Given the description of an element on the screen output the (x, y) to click on. 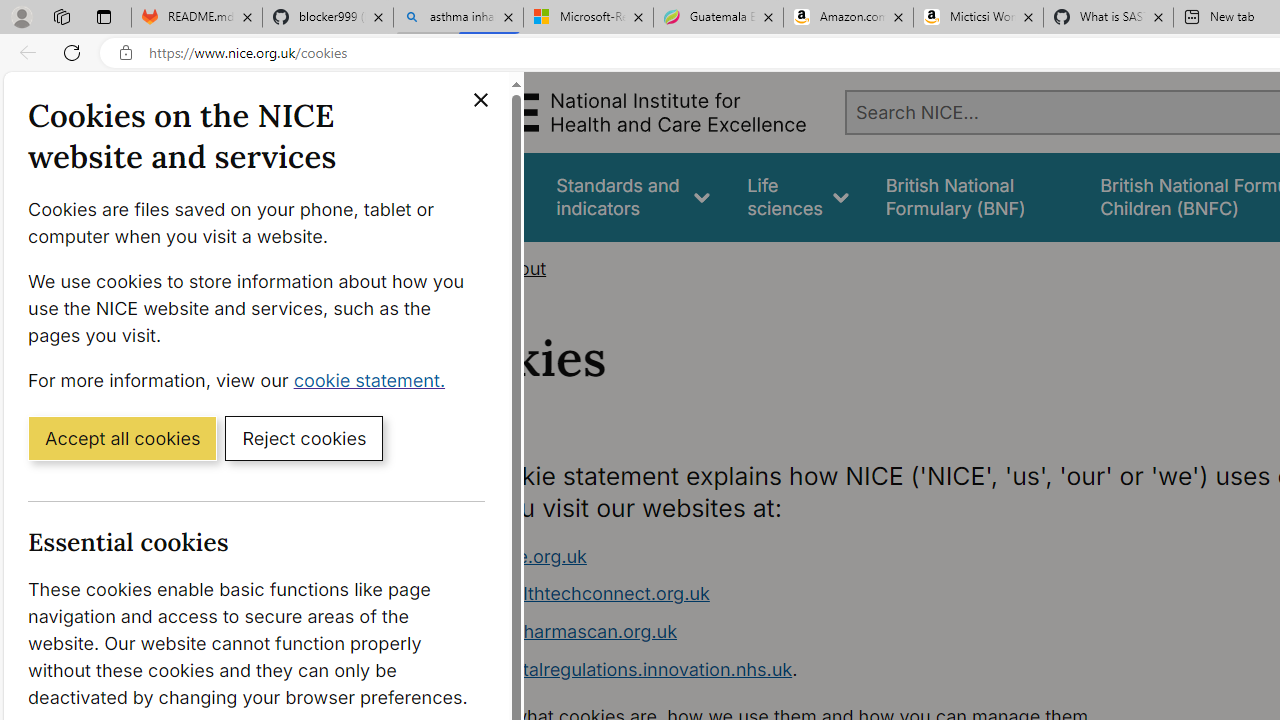
www.healthtechconnect.org.uk (576, 593)
www.healthtechconnect.org.uk (818, 594)
Close cookie banner (480, 99)
Accept all cookies (122, 437)
About (520, 268)
